Given the description of an element on the screen output the (x, y) to click on. 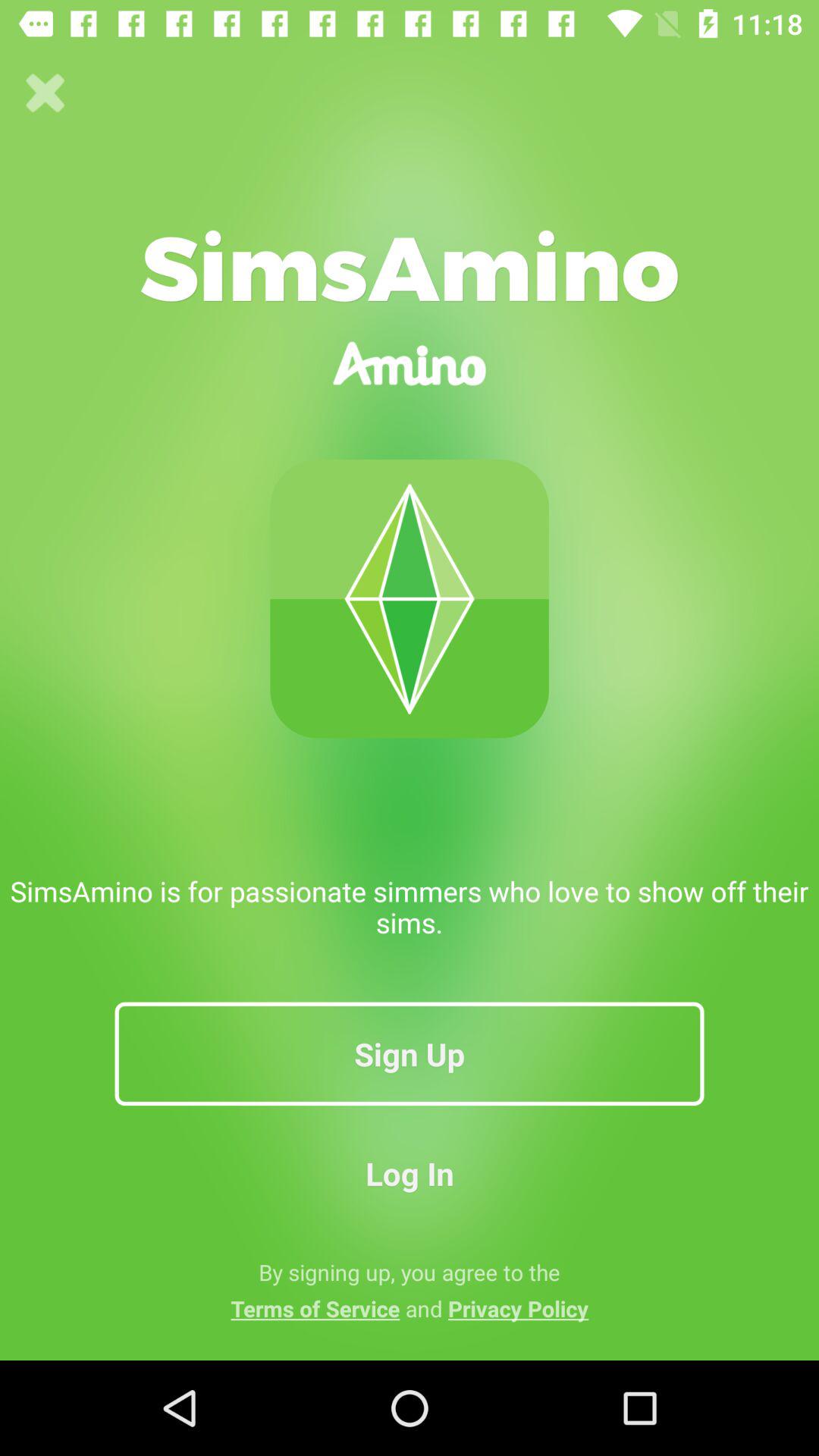
tap sign up item (409, 1053)
